Given the description of an element on the screen output the (x, y) to click on. 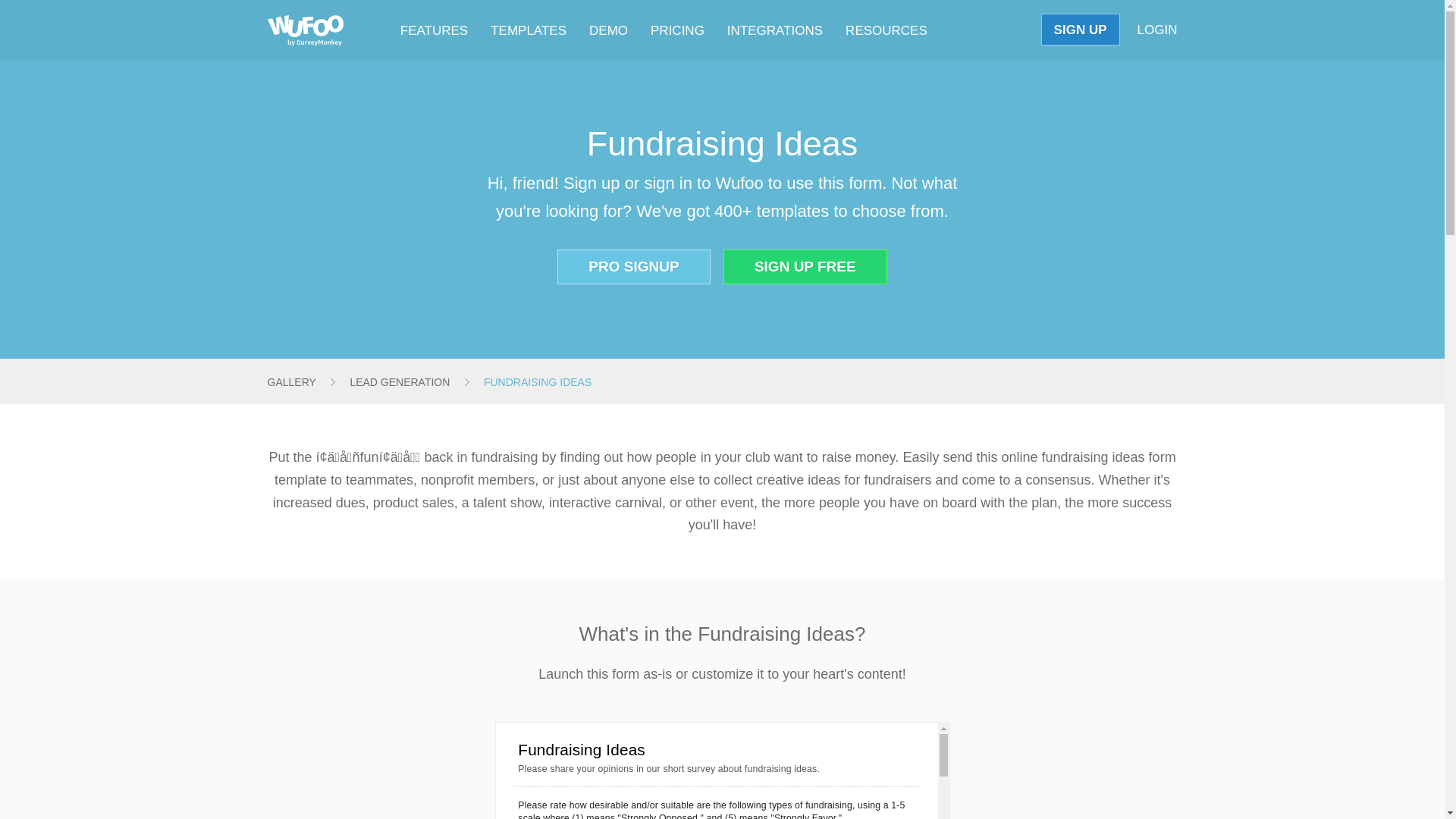
PRICING (677, 30)
LOGIN (1157, 30)
Wufoo (304, 30)
FEATURES (433, 30)
SIGN UP FREE (804, 267)
TEMPLATES (528, 30)
PRO SIGNUP (633, 267)
GALLERY (290, 382)
RESOURCES (886, 30)
LEAD GENERATION (399, 382)
SIGN UP (1080, 30)
INTEGRATIONS (774, 30)
